Given the description of an element on the screen output the (x, y) to click on. 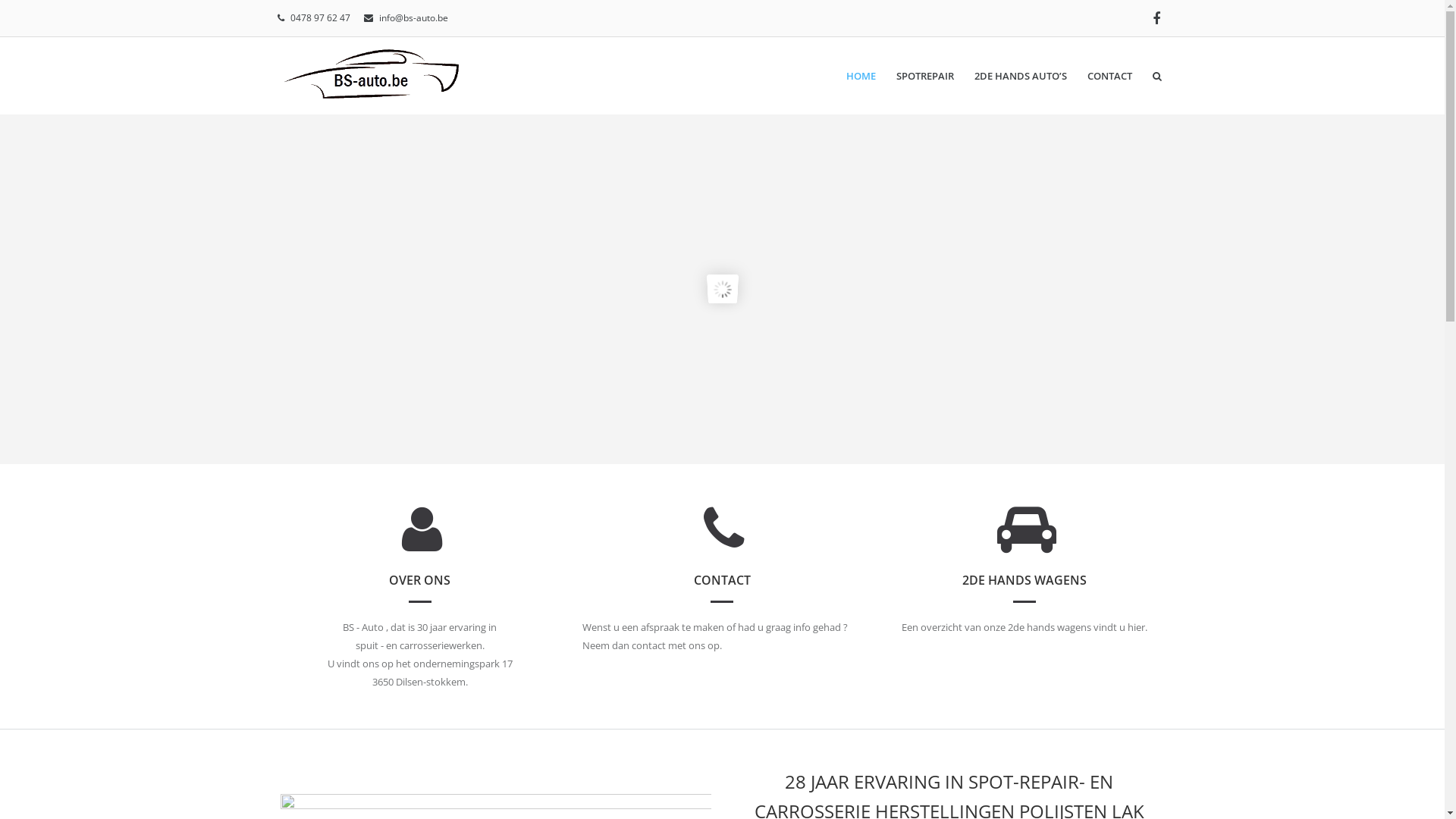
CONTACT Element type: text (1109, 75)
HOME Element type: text (860, 75)
info@bs-auto.be Element type: text (413, 17)
SPOTREPAIR Element type: text (924, 75)
Facebook Element type: hover (1156, 18)
